Given the description of an element on the screen output the (x, y) to click on. 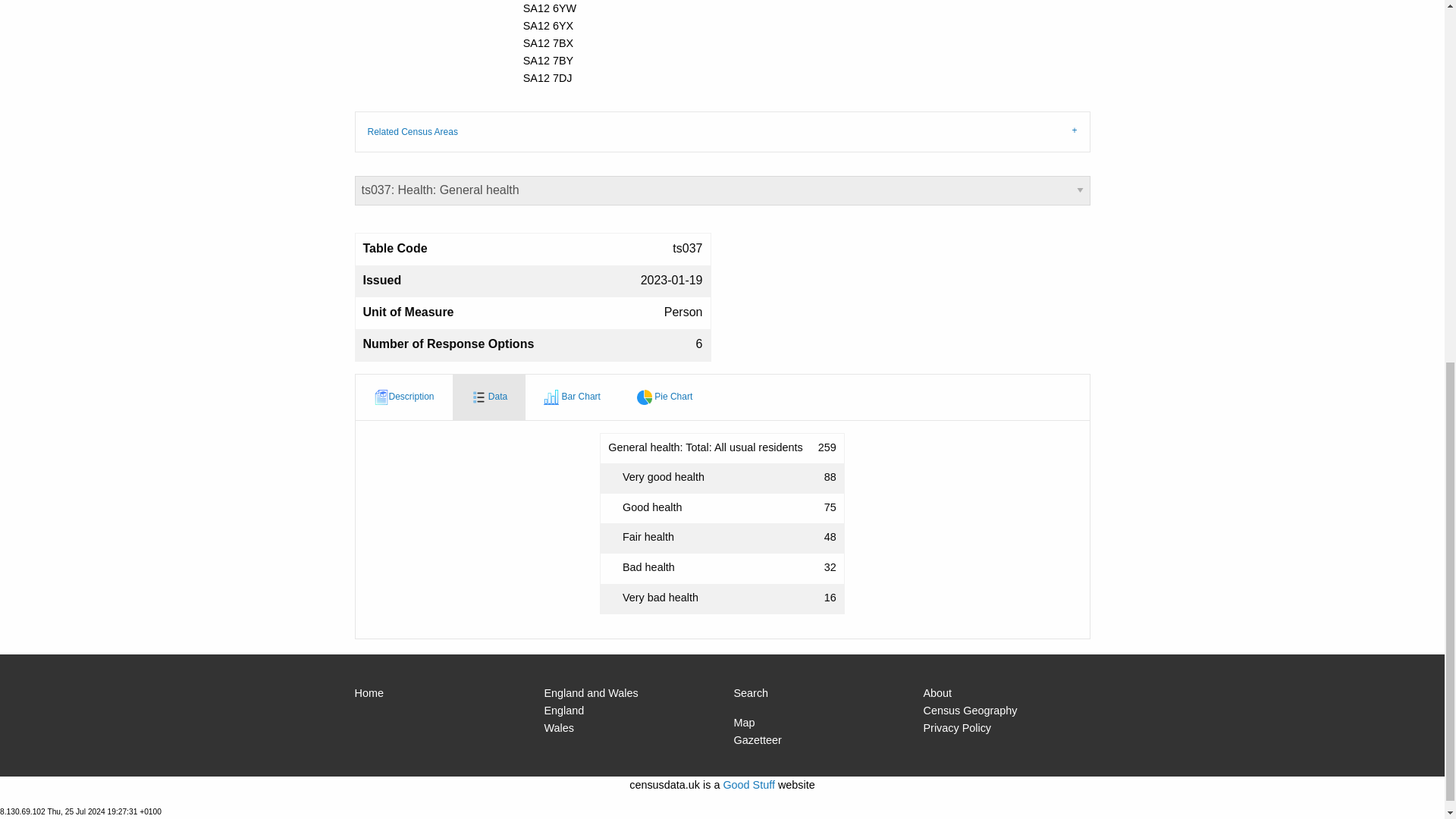
Related Census Areas (722, 130)
